Given the description of an element on the screen output the (x, y) to click on. 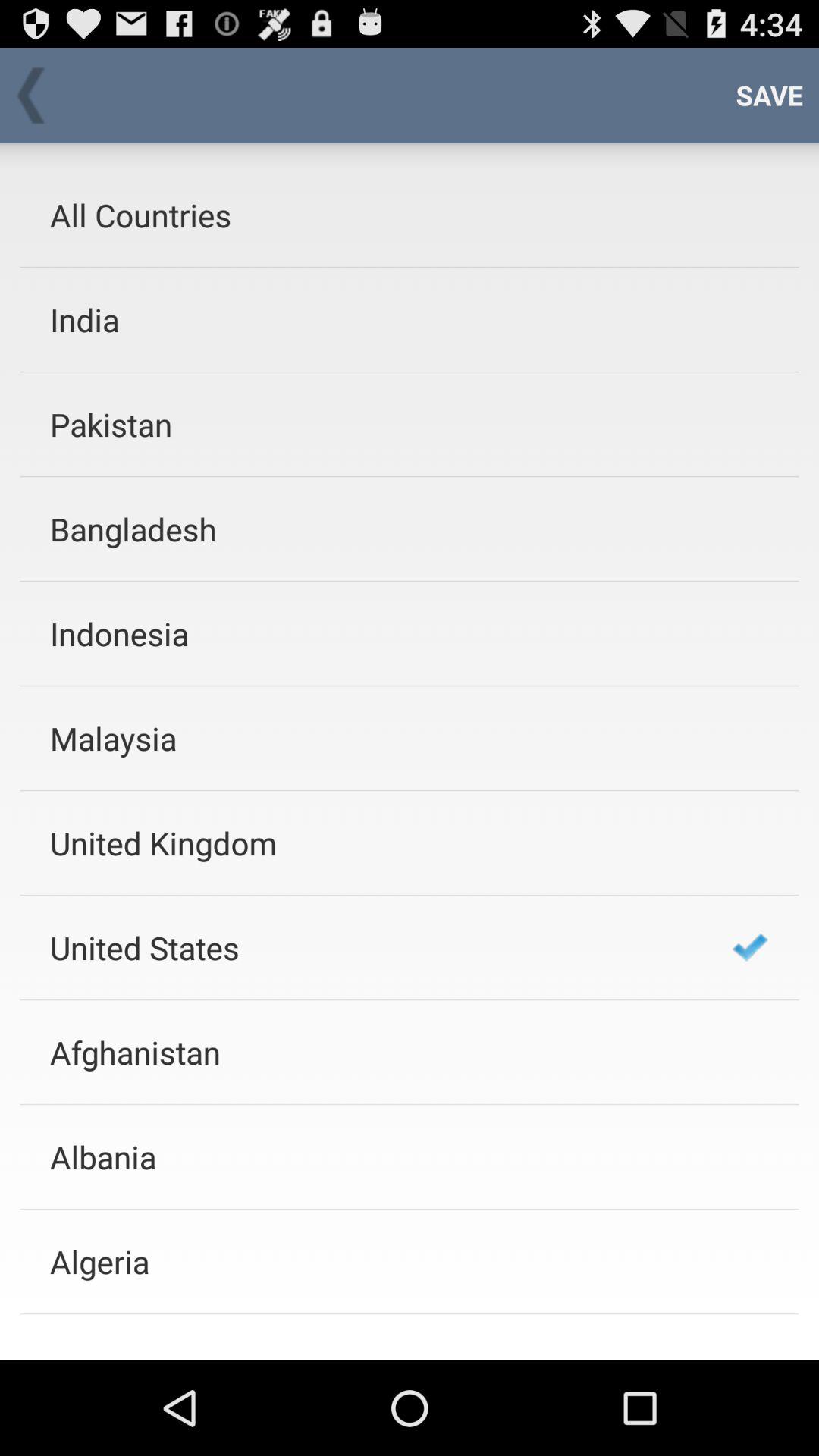
turn on app below the albania app (371, 1261)
